Given the description of an element on the screen output the (x, y) to click on. 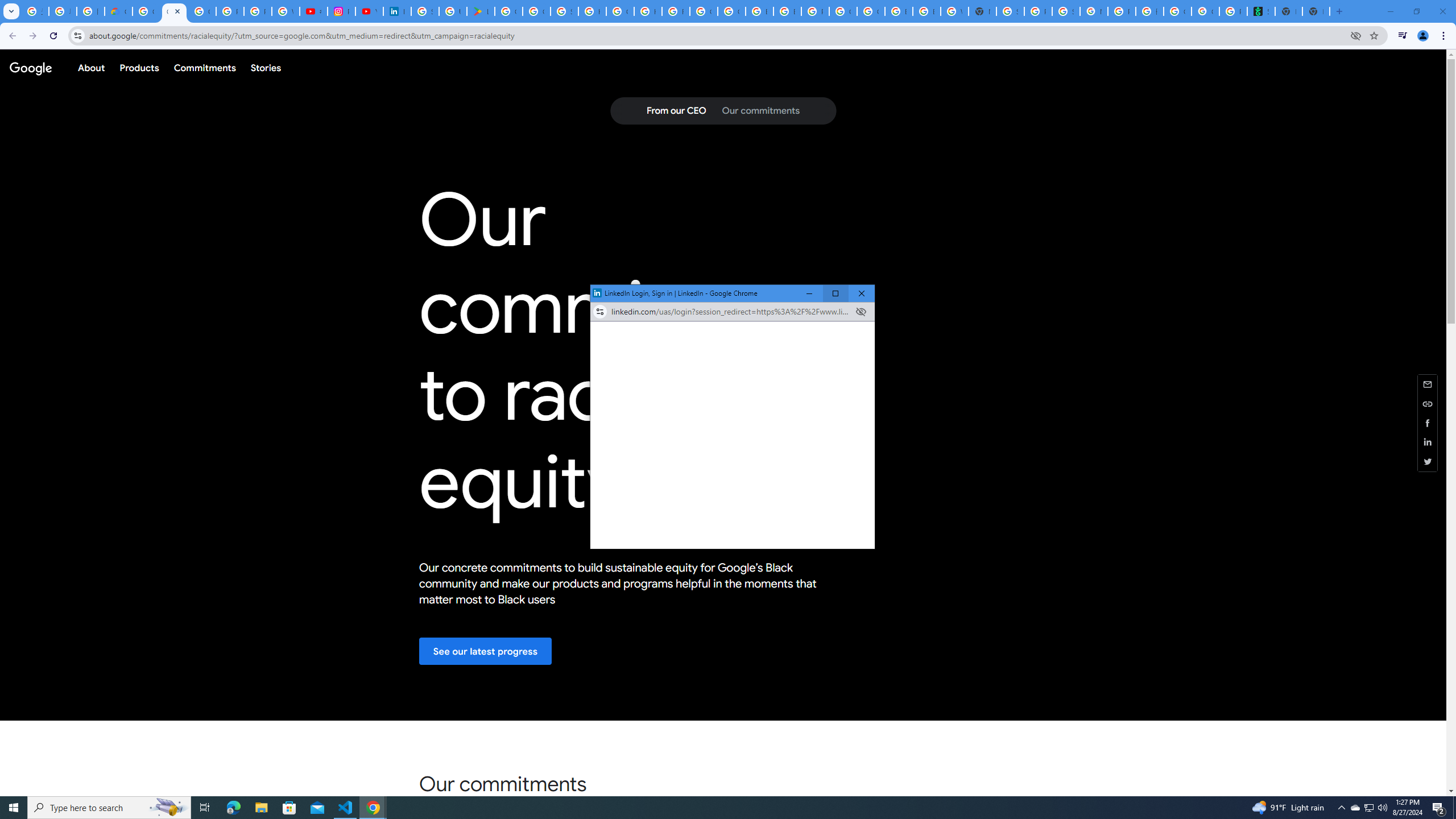
Notification Chevron (1341, 807)
Address and search bar (730, 311)
See our latest progress (485, 651)
Browse Chrome as a guest - Computer - Google Chrome Help (926, 11)
Products (138, 67)
Maximize (835, 293)
Running applications (717, 807)
About (90, 67)
